Given the description of an element on the screen output the (x, y) to click on. 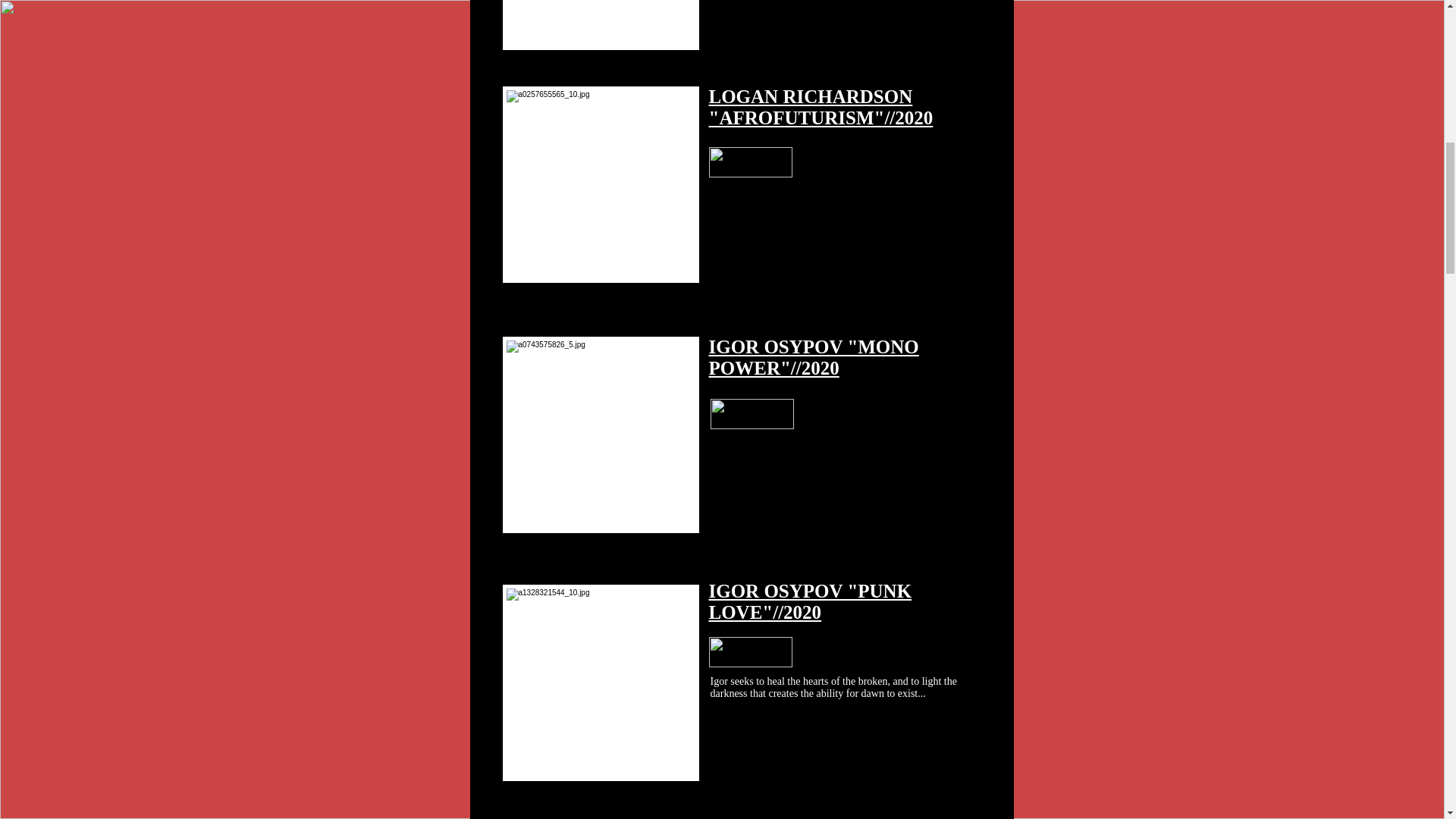
Get it on iTunes (749, 652)
Get it on iTunes (751, 413)
Get it on iTunes (749, 162)
